Given the description of an element on the screen output the (x, y) to click on. 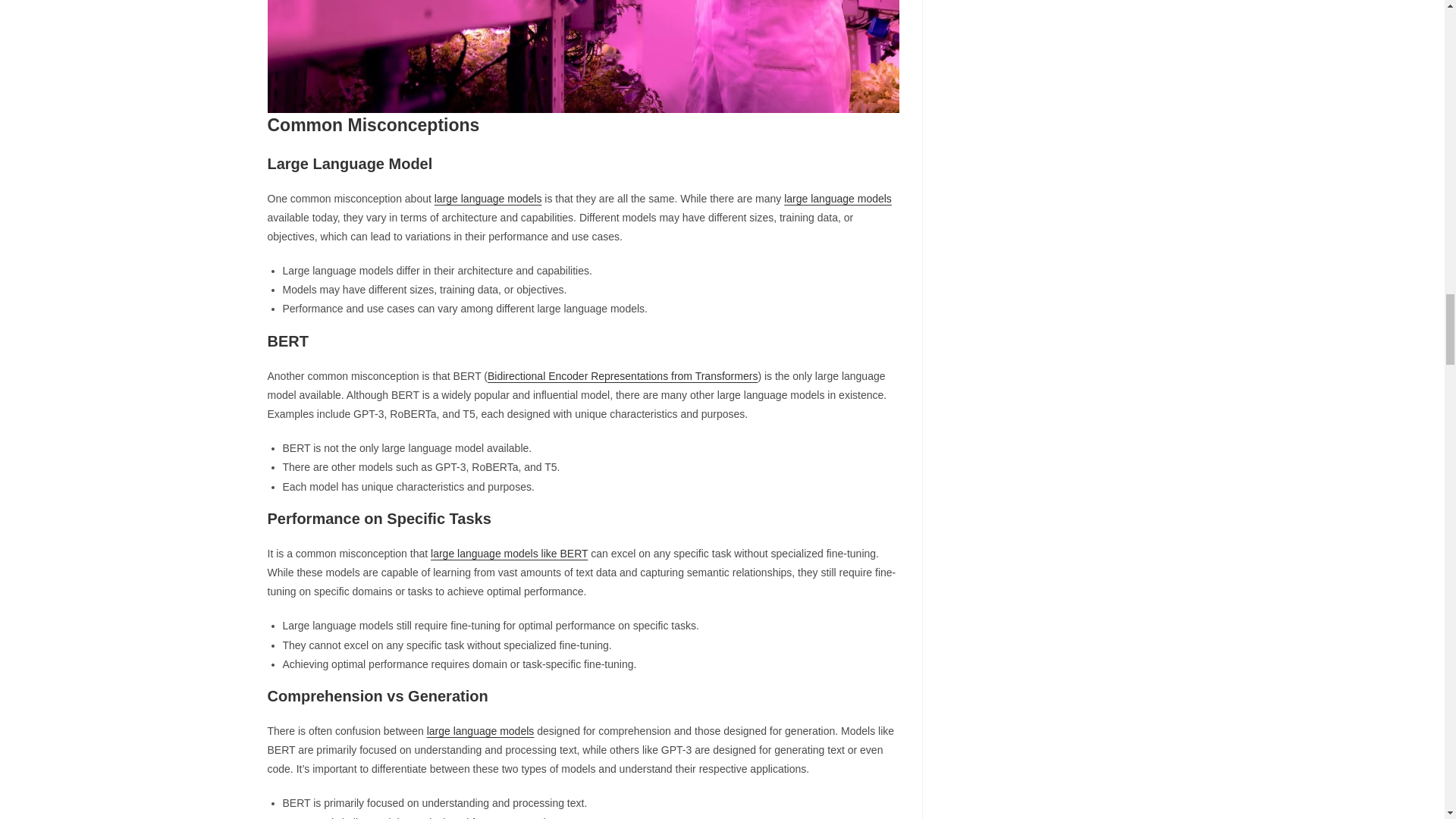
Bidirectional Encoder Representations from Transformers (622, 376)
large language models (837, 198)
large language models (487, 198)
large language models (480, 730)
large language models like BERT (509, 553)
Large Language Model vs BERT (582, 56)
